Given the description of an element on the screen output the (x, y) to click on. 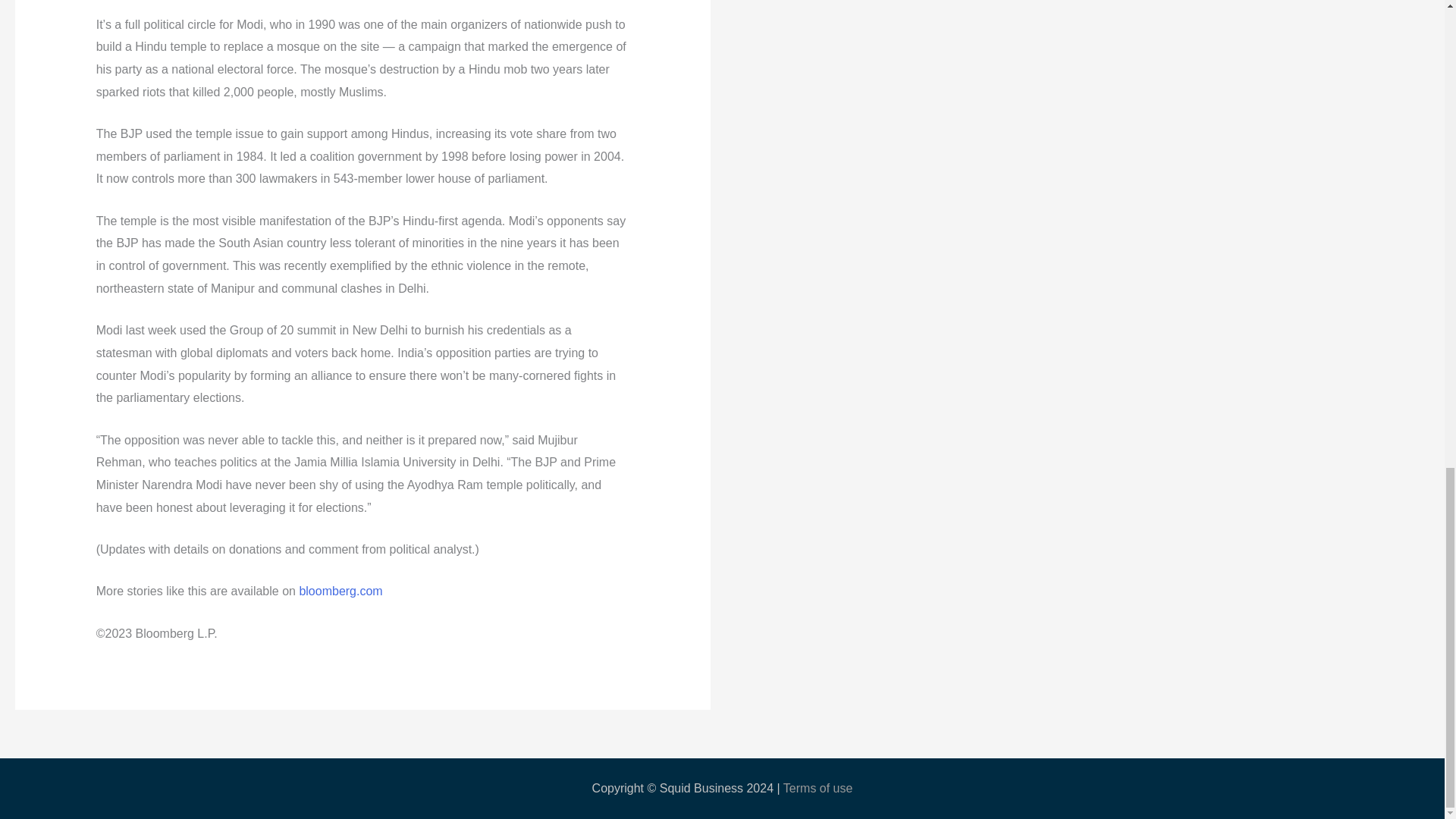
Terms of use (818, 788)
bloomberg.com (339, 590)
